Given the description of an element on the screen output the (x, y) to click on. 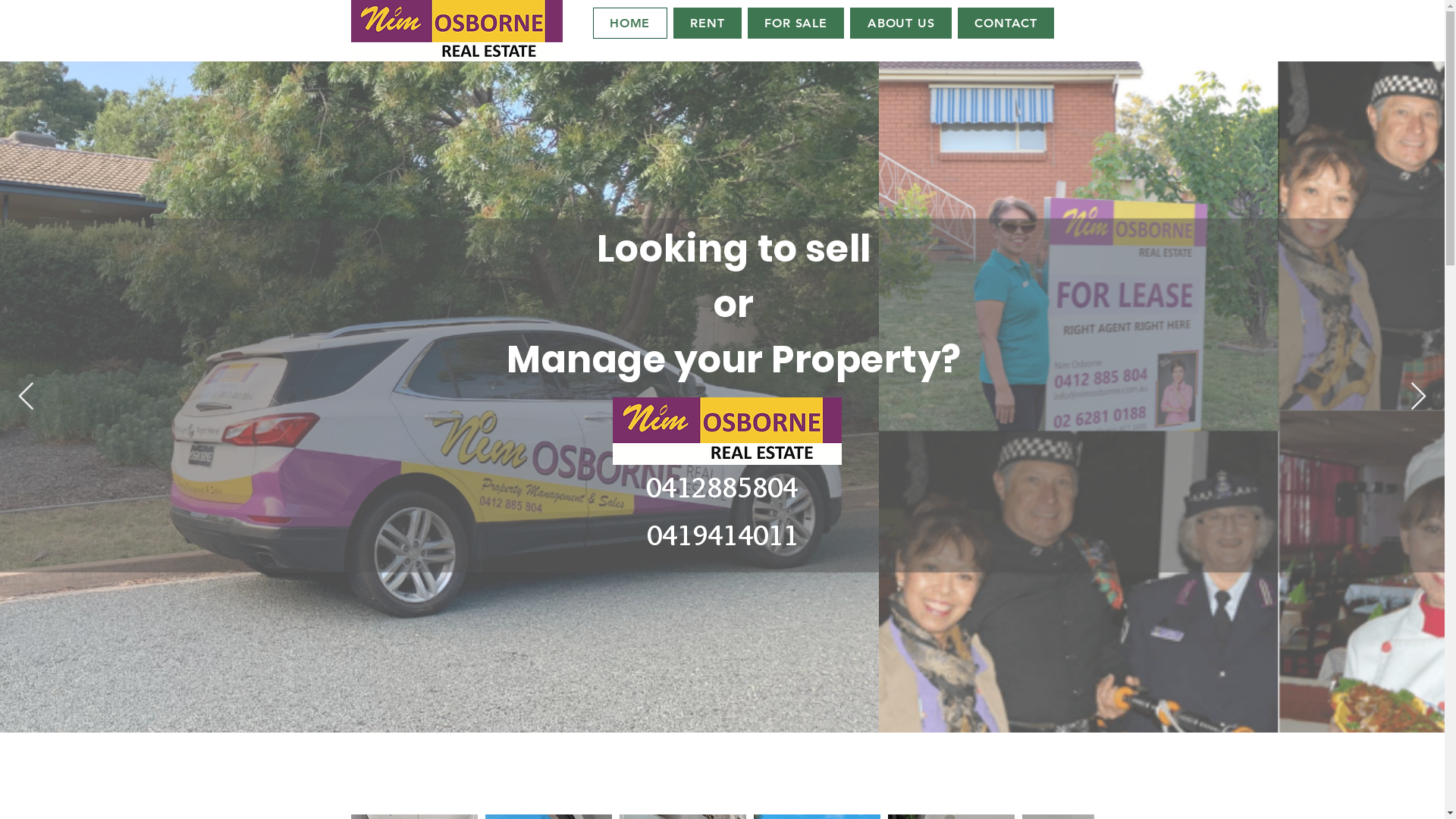
RENT Element type: text (707, 22)
0412885804 Element type: text (721, 486)
Check how Nim does it! Element type: text (721, 755)
CONTACT Element type: text (1005, 22)
ABOUT US Element type: text (900, 22)
0419414011 Element type: text (721, 533)
HOME Element type: text (630, 22)
FOR SALE Element type: text (795, 22)
Nim Osborne Logo.png Element type: hover (455, 31)
